Given the description of an element on the screen output the (x, y) to click on. 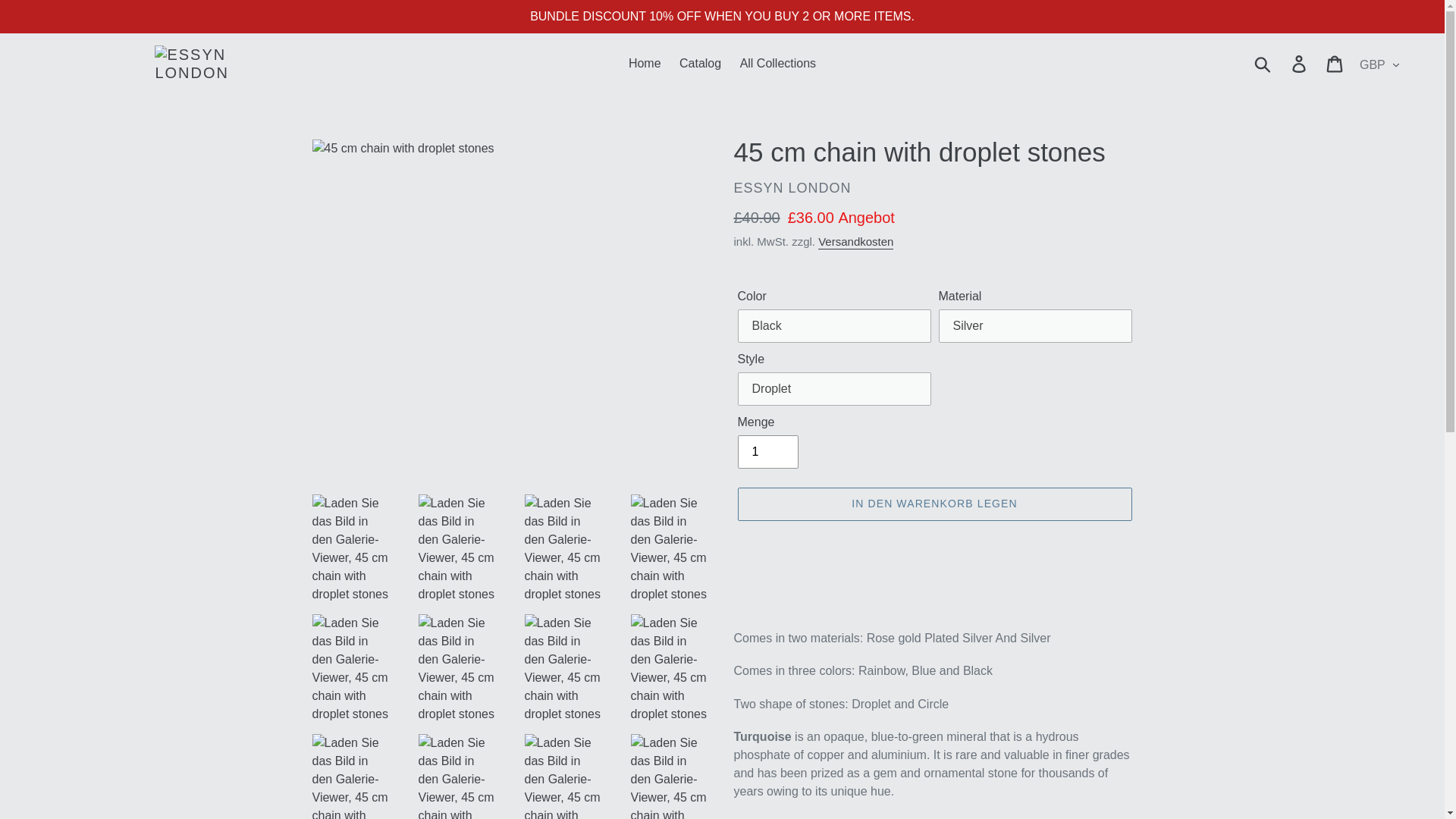
Versandkosten (855, 242)
Catalog (700, 63)
Einloggen (1299, 63)
1 (766, 451)
Home (644, 63)
IN DEN WARENKORB LEGEN (933, 503)
All Collections (778, 63)
Warenkorb (1335, 63)
Suchen (1263, 63)
